Given the description of an element on the screen output the (x, y) to click on. 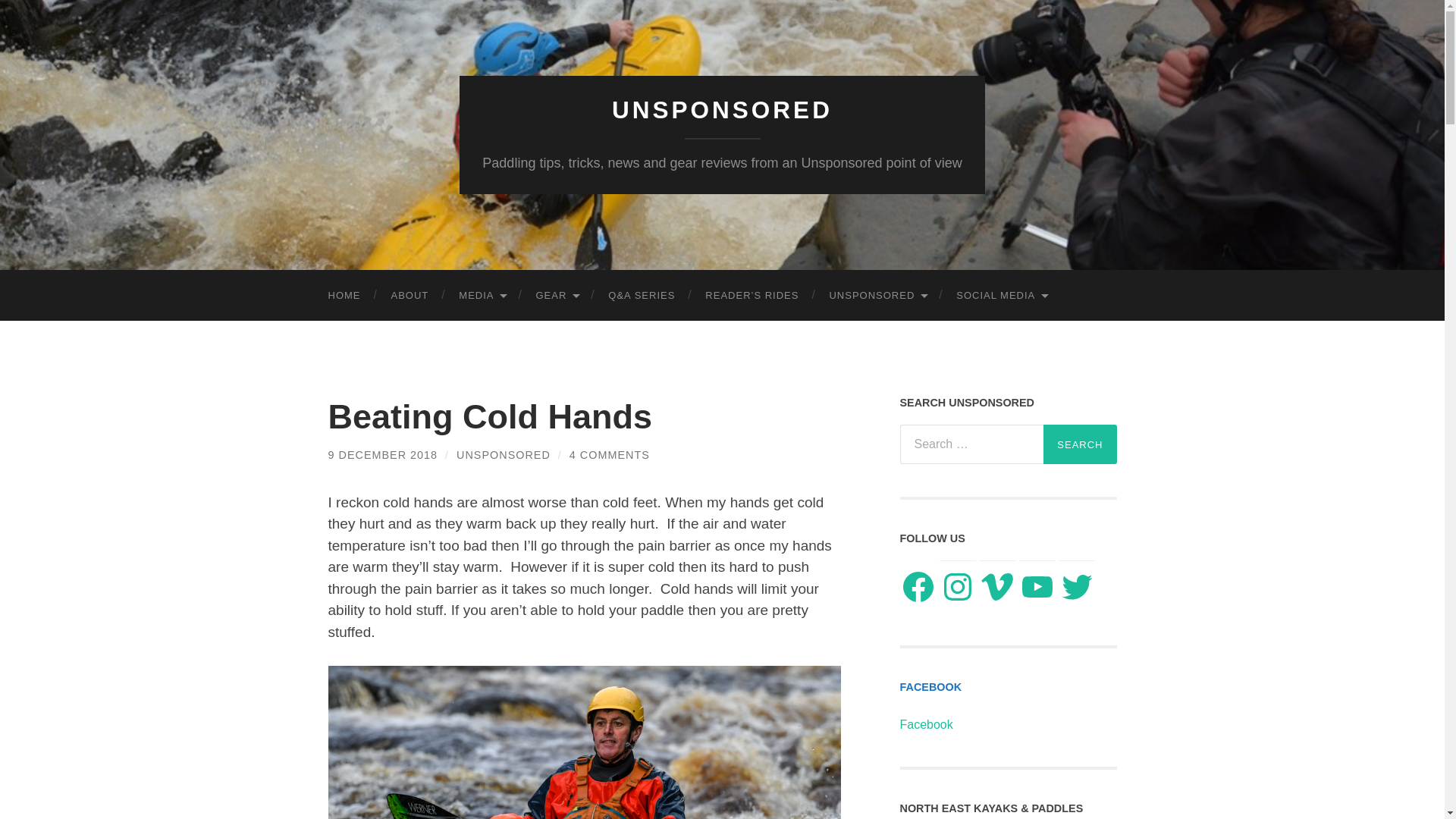
UNSPONSORED (876, 295)
SOCIAL MEDIA (1000, 295)
GEAR (555, 295)
Posts by Unsponsored (503, 454)
MEDIA (481, 295)
HOME (344, 295)
Search (1079, 444)
Search (1079, 444)
ABOUT (409, 295)
UNSPONSORED (721, 109)
